Given the description of an element on the screen output the (x, y) to click on. 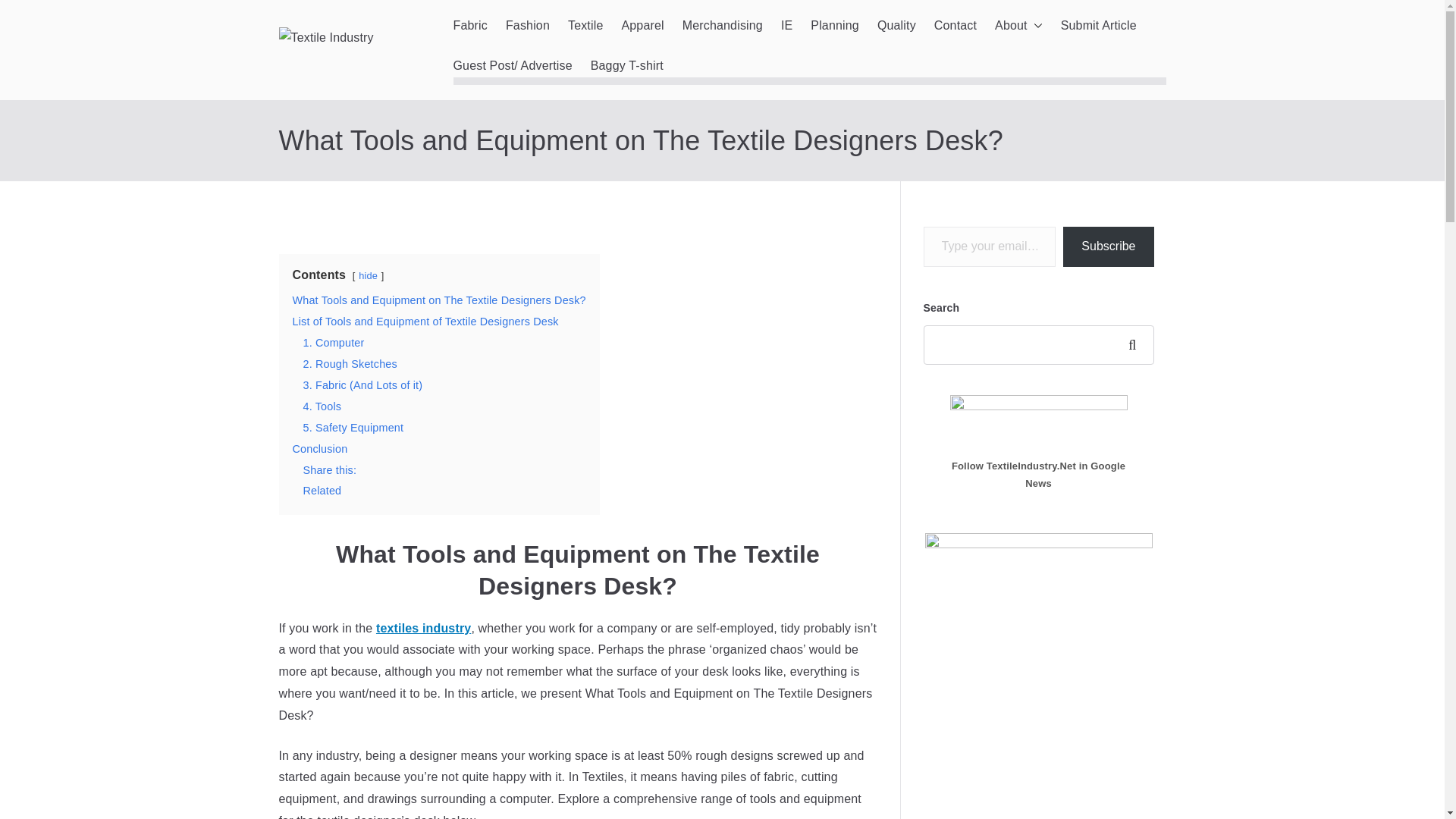
Contact (955, 25)
1. Computer (333, 342)
Quality (896, 25)
Fashion (527, 25)
2. Rough Sketches (349, 363)
List of Tools and Equipment of Textile Designers Desk (425, 321)
Textile (584, 25)
hide (367, 275)
Baggy T-shirt (627, 65)
About (1018, 25)
Please fill in this field. (990, 246)
Planning (834, 25)
Merchandising (722, 25)
Textile Industry (534, 69)
What Tools and Equipment on The Textile Designers Desk? (439, 300)
